Given the description of an element on the screen output the (x, y) to click on. 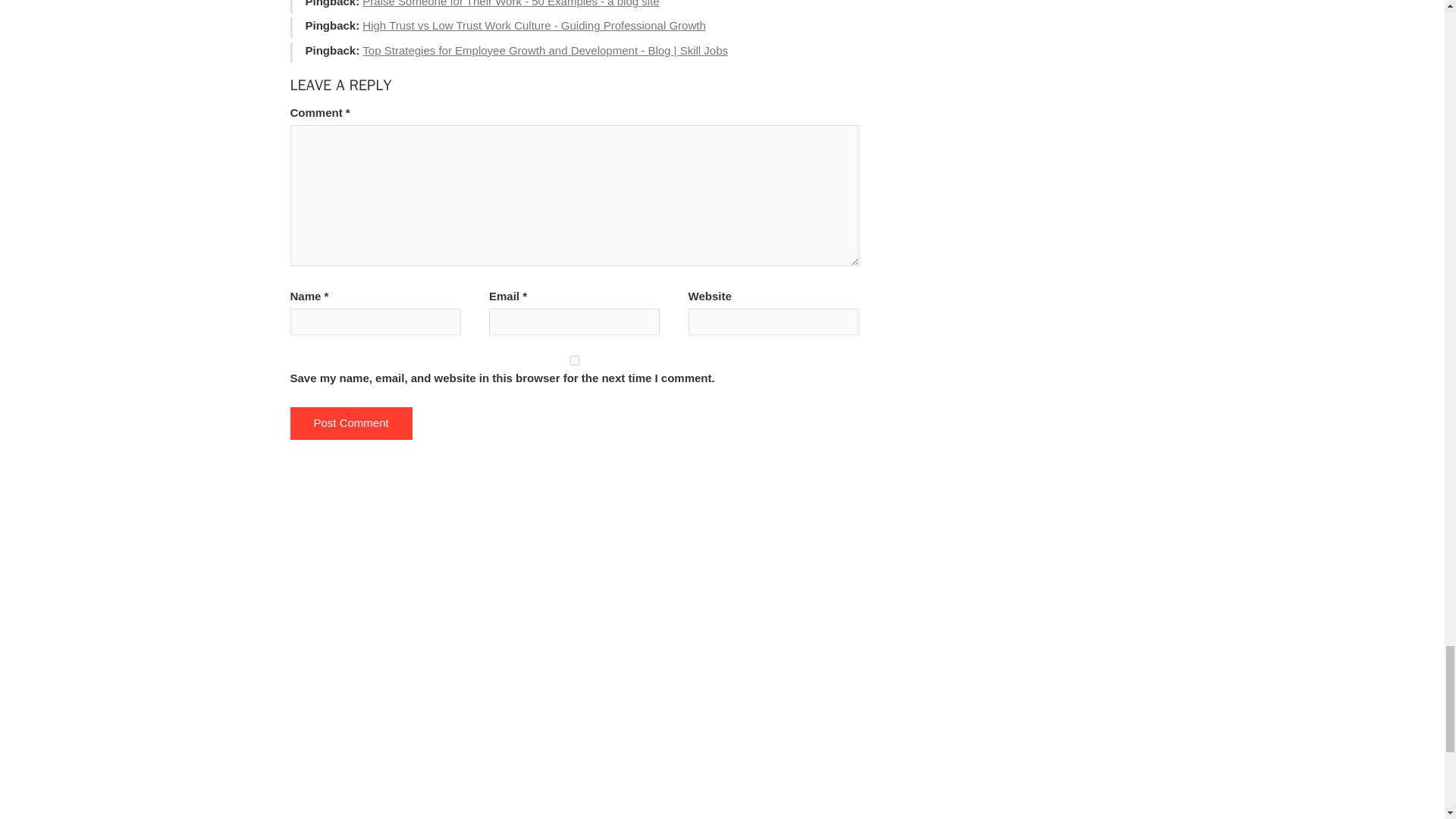
Post Comment (350, 423)
Post Comment (350, 423)
Praise Someone for Their Work - 50 Examples - a blog site (510, 3)
yes (574, 360)
